Given the description of an element on the screen output the (x, y) to click on. 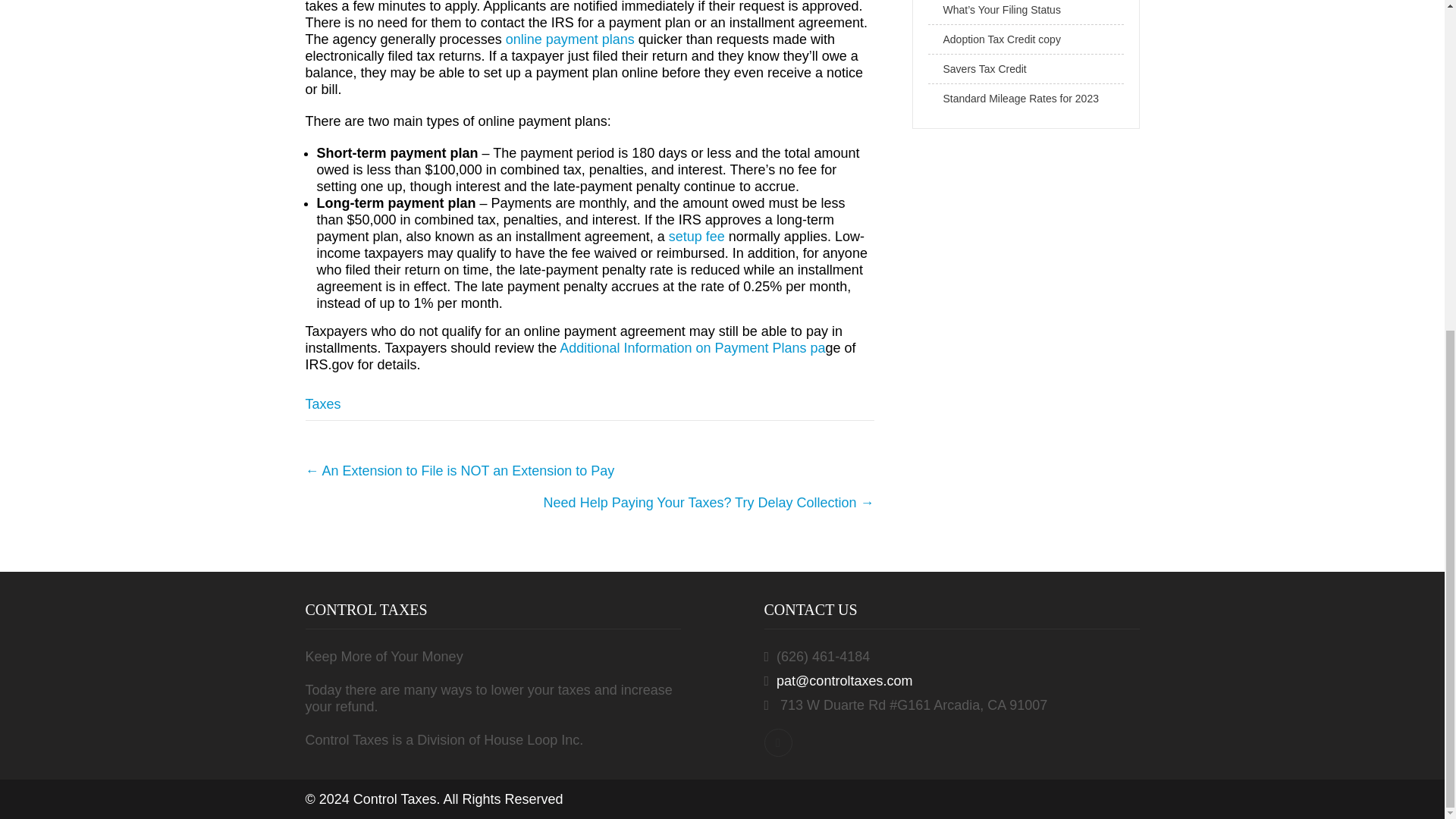
Adoption Tax Credit copy (1026, 39)
Standard Mileage Rates for 2023 (1026, 98)
Taxes (322, 403)
online payment plans (569, 38)
View all posts in Taxes (322, 403)
facebook (778, 742)
Savers Tax Credit (1026, 69)
Top of Page (1401, 230)
Additional Information on Payment Plans pa (692, 347)
setup fee (696, 236)
